Given the description of an element on the screen output the (x, y) to click on. 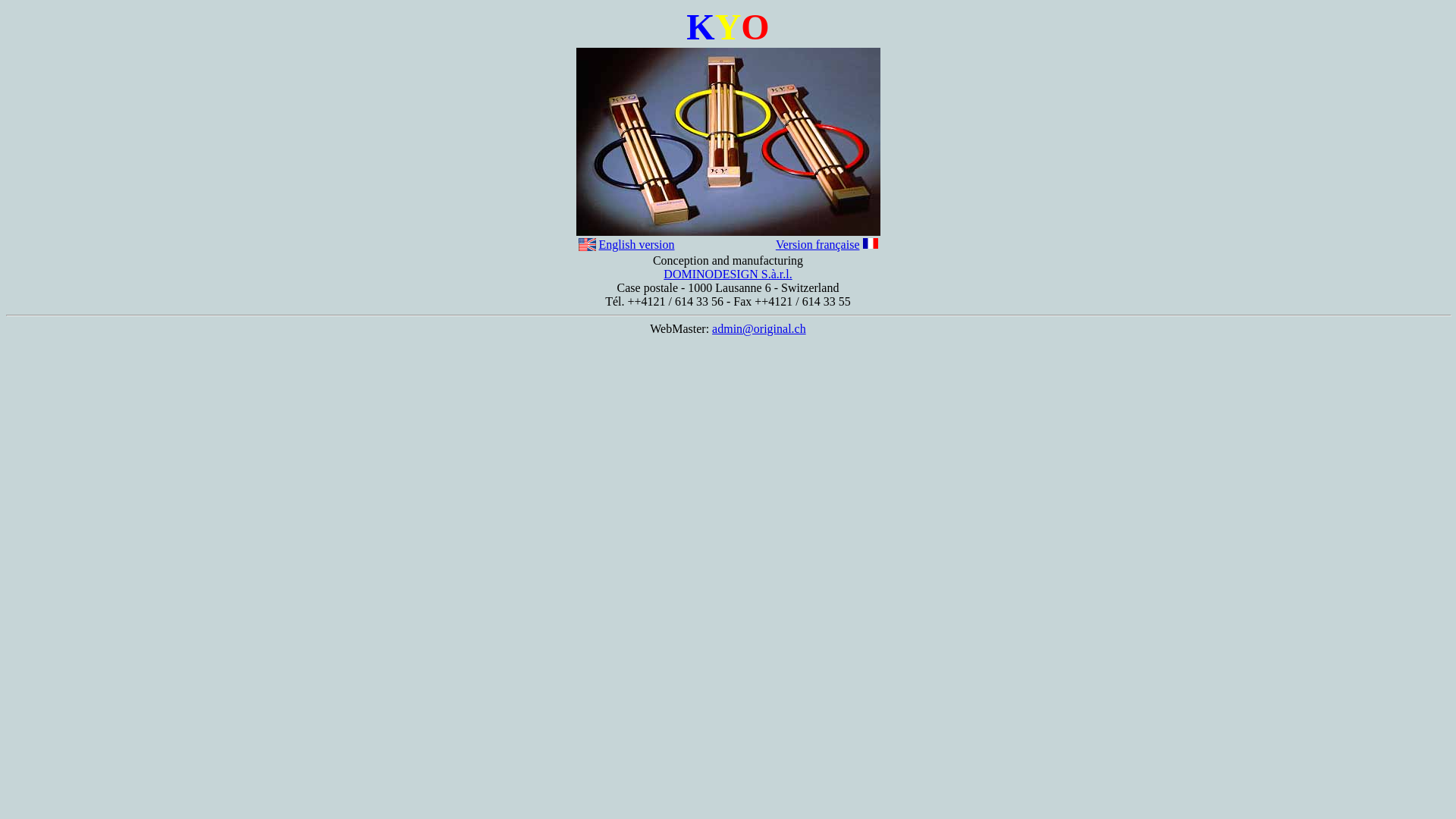
admin@original.ch Element type: text (759, 328)
English version Element type: text (636, 244)
